Given the description of an element on the screen output the (x, y) to click on. 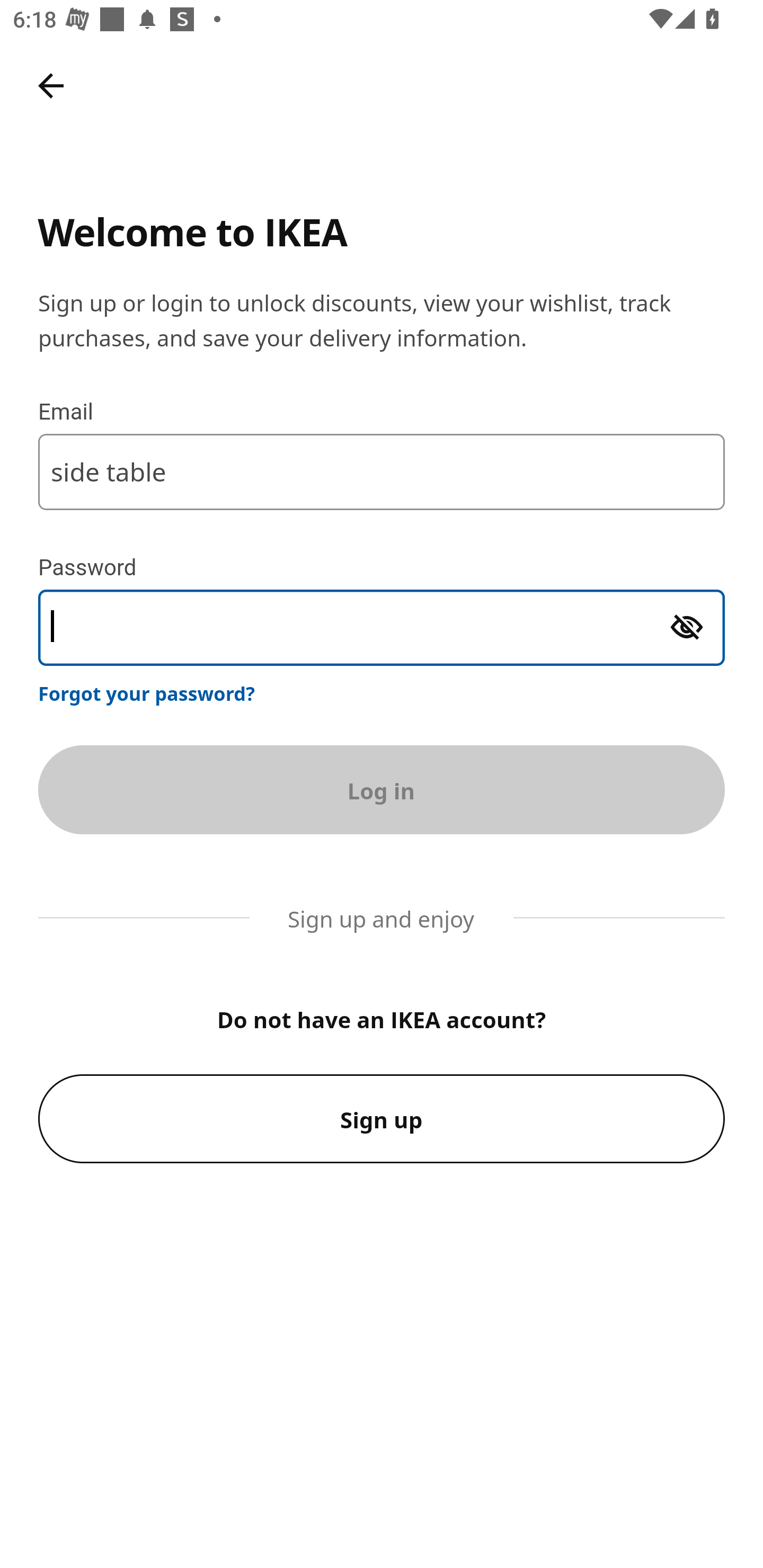
side table (381, 471)
Forgot your password? (146, 692)
Log in (381, 789)
Sign up (381, 1118)
